Given the description of an element on the screen output the (x, y) to click on. 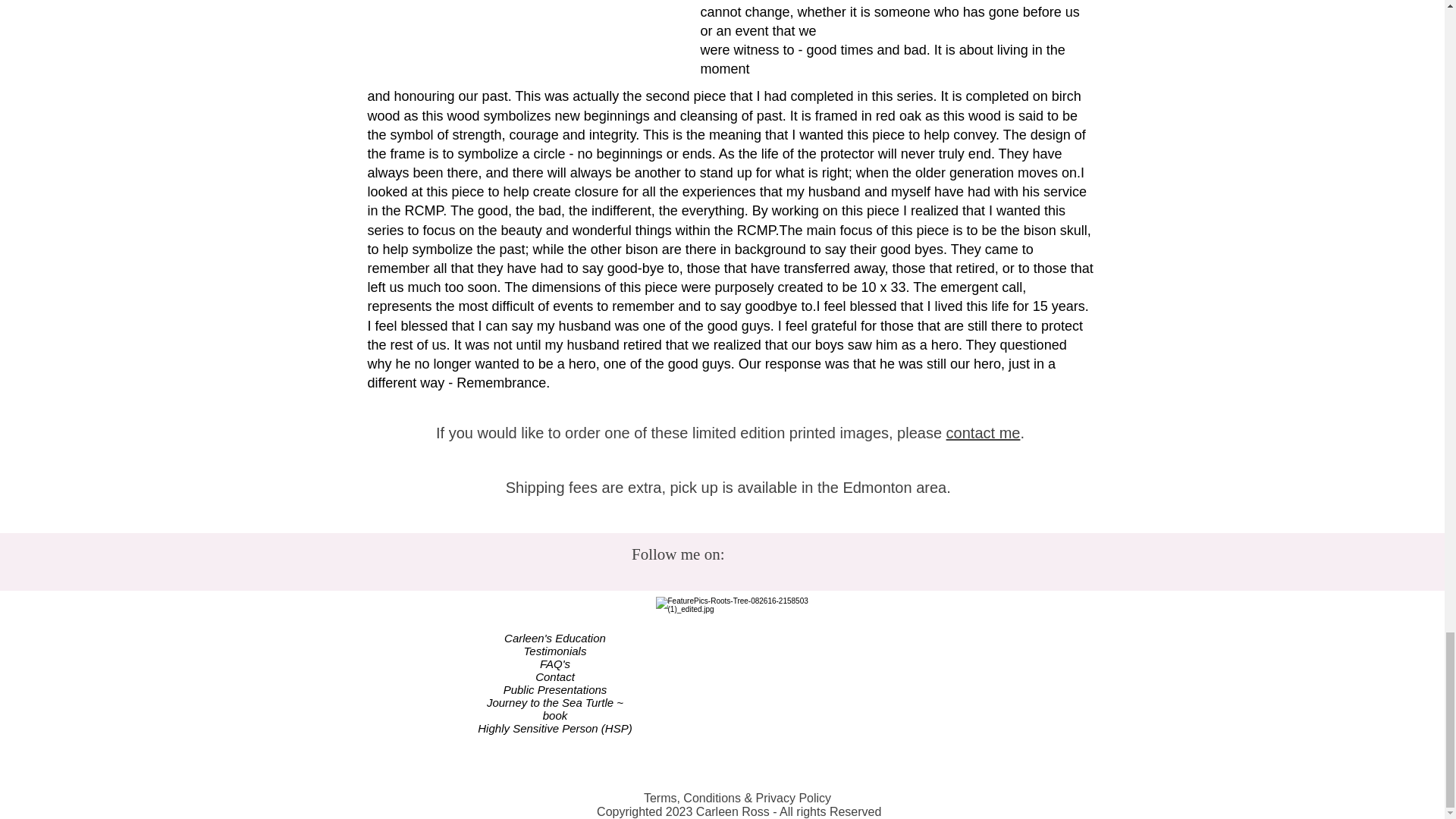
contact me (983, 433)
Public Presentations (555, 689)
Contact (555, 676)
FAQ's (555, 663)
Testimonials (555, 650)
Carleen's Education (554, 637)
